Given the description of an element on the screen output the (x, y) to click on. 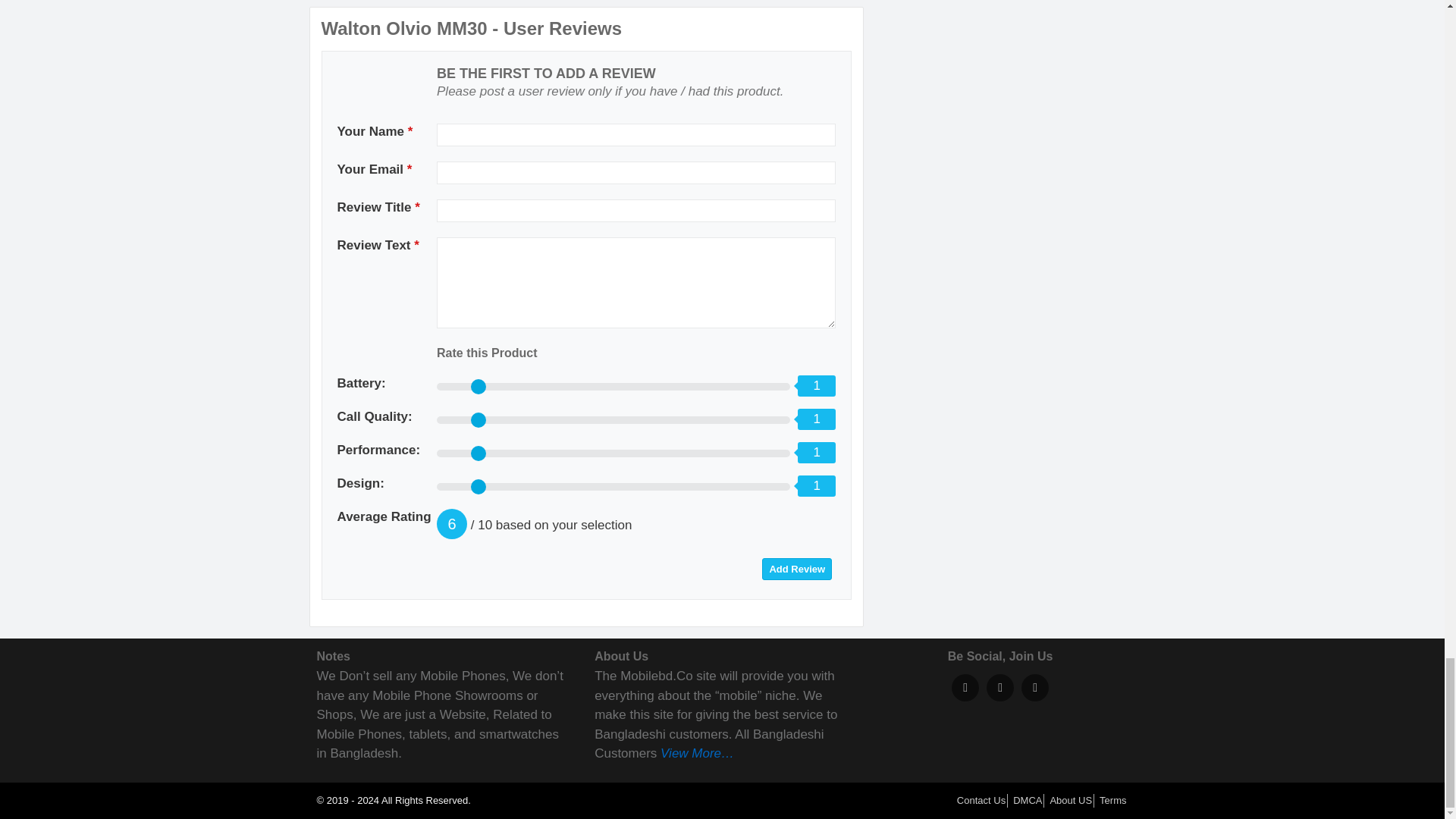
Add Review (796, 568)
1 (613, 453)
1 (613, 420)
1 (613, 386)
Add Review (796, 568)
1 (613, 486)
